Given the description of an element on the screen output the (x, y) to click on. 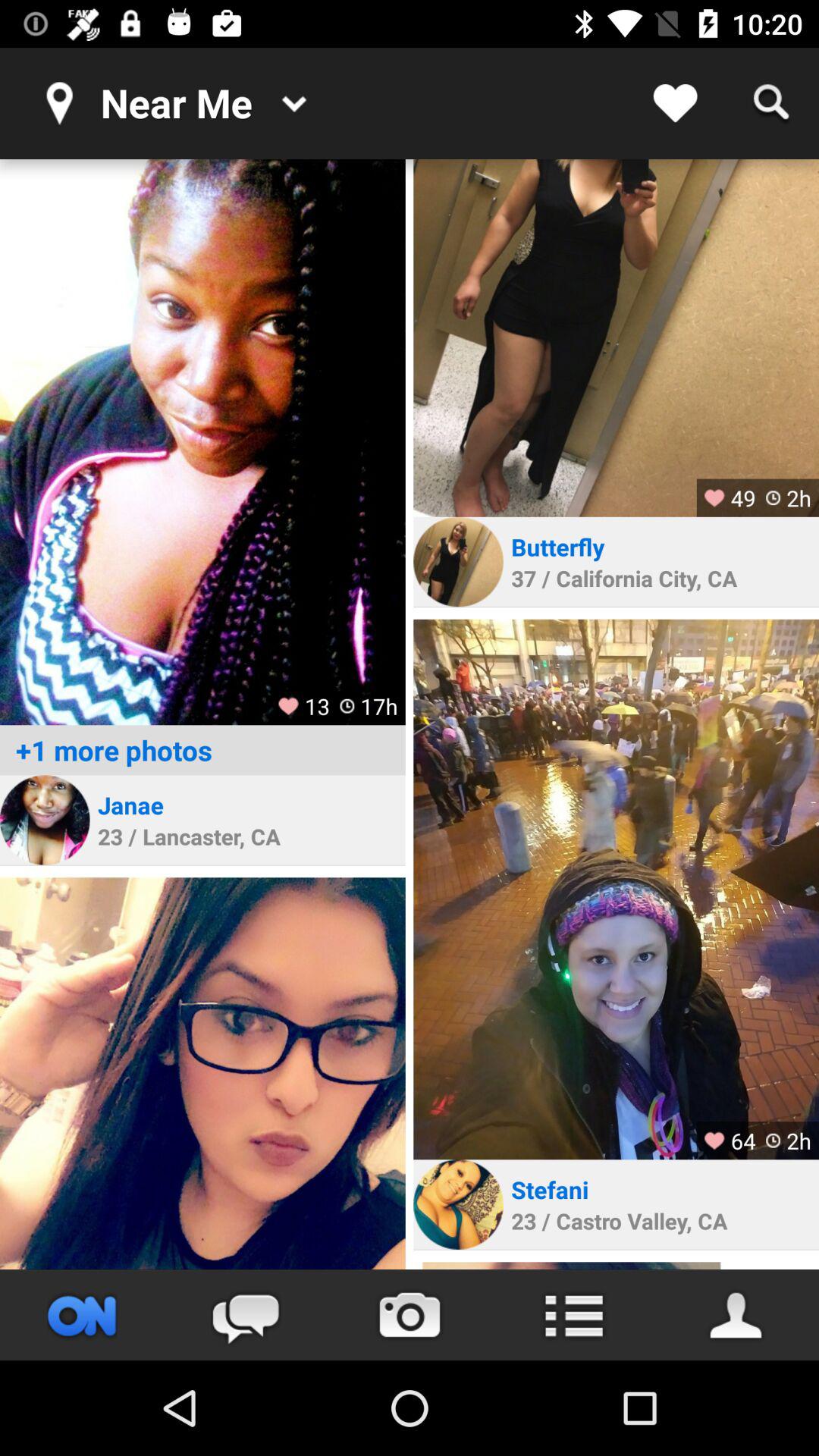
jump until the +1 more photos item (202, 750)
